Given the description of an element on the screen output the (x, y) to click on. 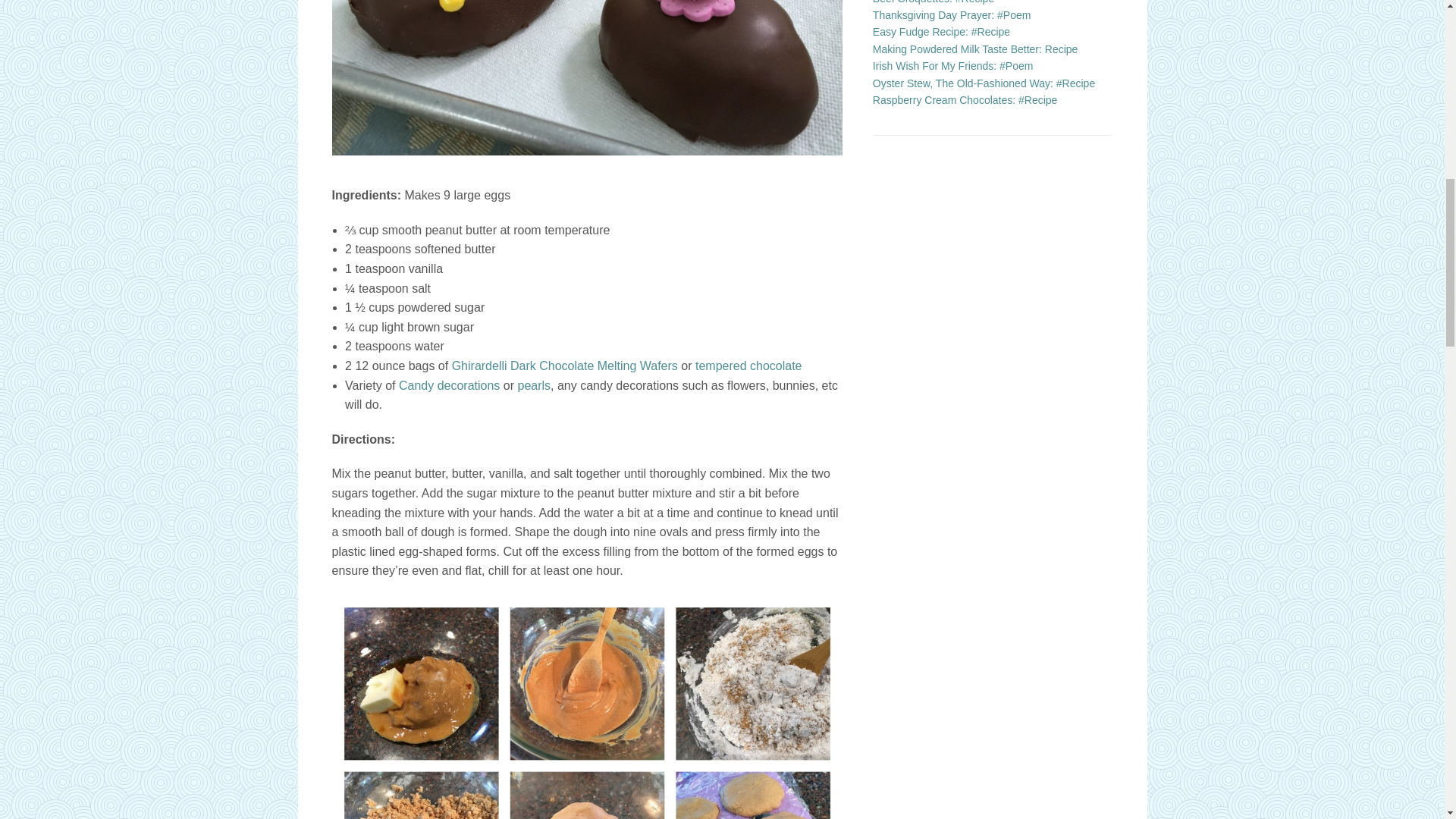
Chocolate Covered Peanut Butter Eggs, findingourwaynow.com (587, 707)
Chocolate Covered Peanut Butter Eggs , findingourwaynow.com (587, 78)
